Given the description of an element on the screen output the (x, y) to click on. 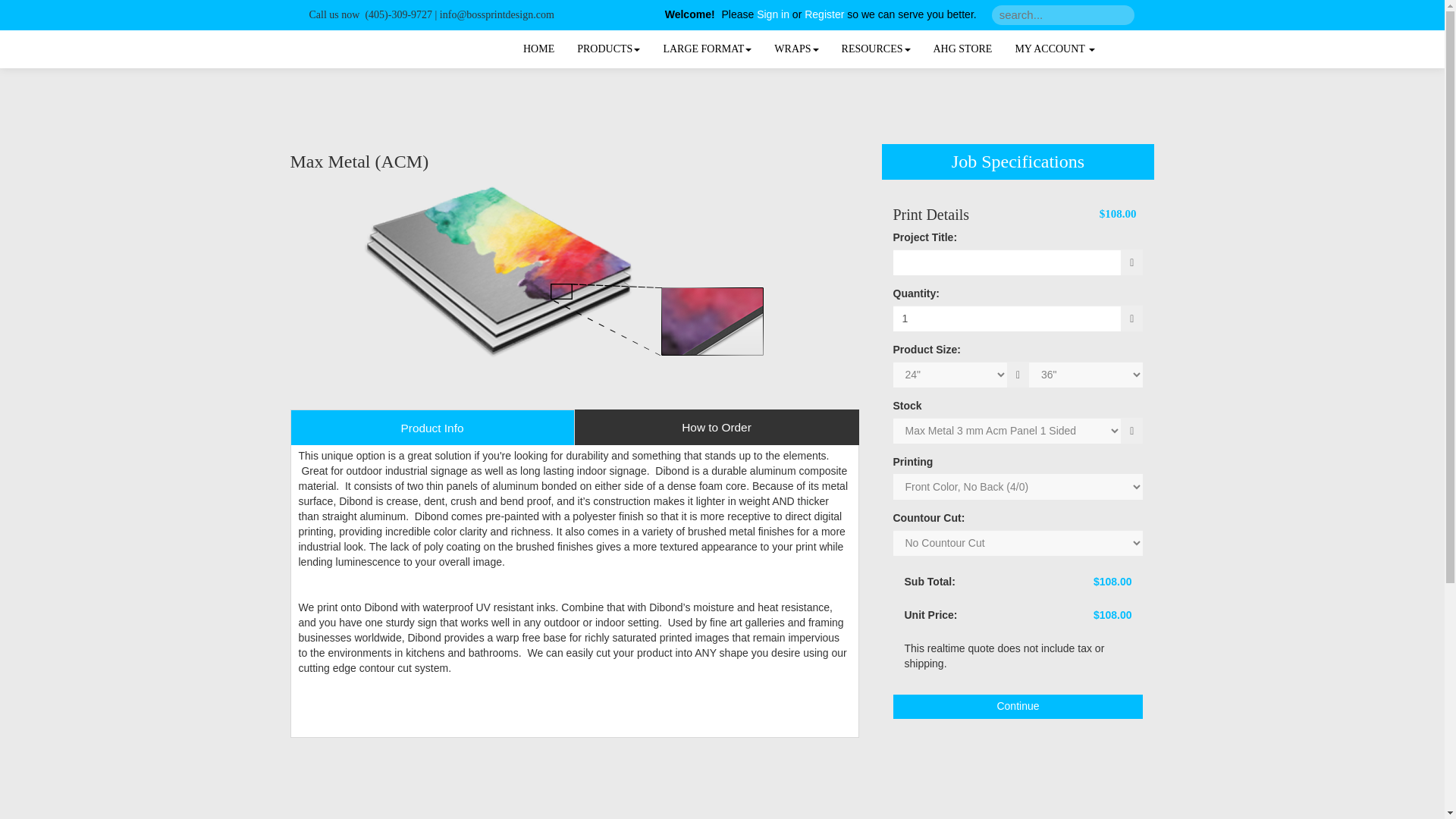
HOME (539, 48)
Product Info (431, 427)
How to Order (717, 427)
1 (1007, 318)
LARGE FORMAT (706, 48)
PRODUCTS (608, 48)
